Given the description of an element on the screen output the (x, y) to click on. 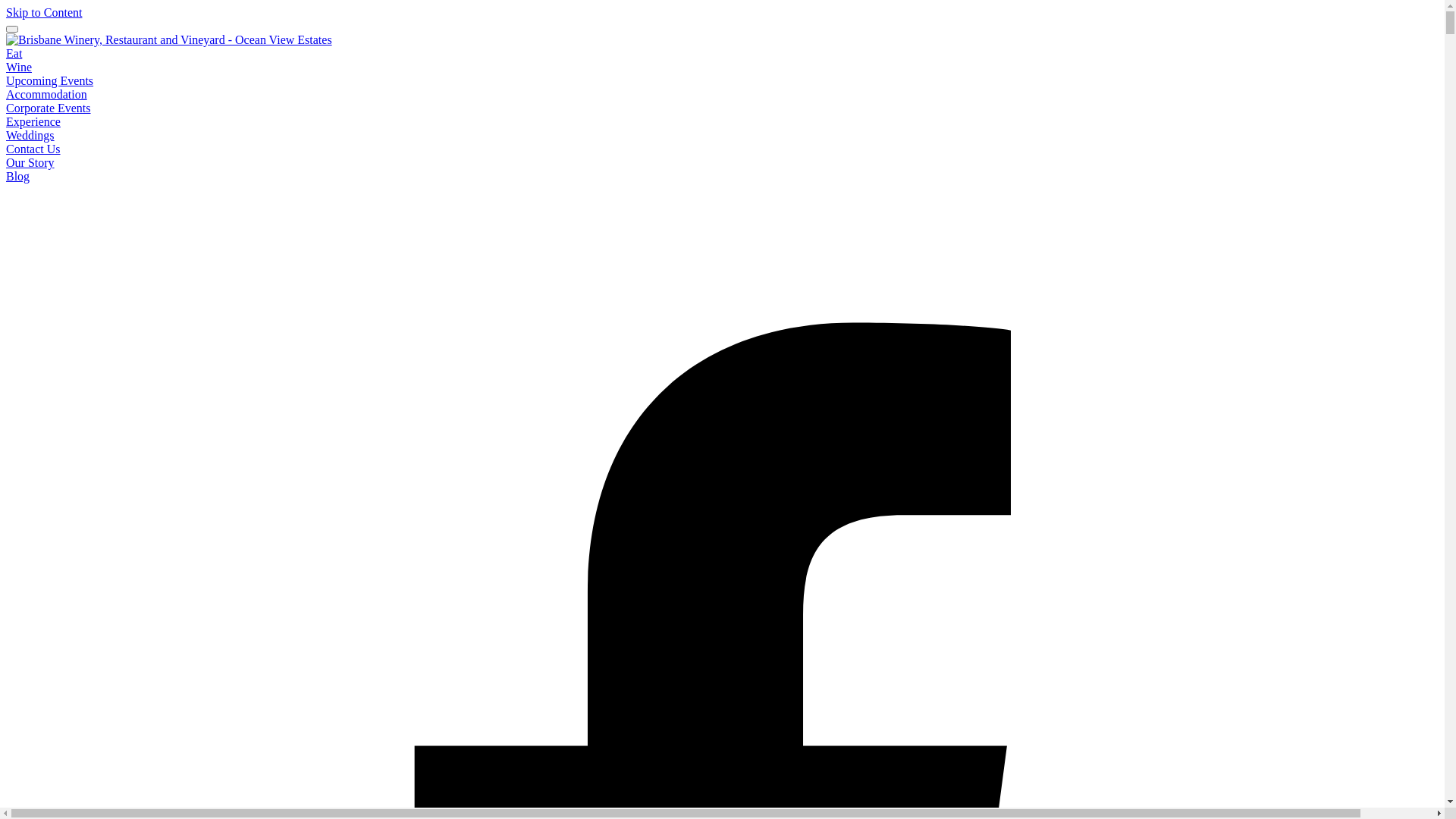
Wine Element type: text (18, 66)
Skip to Content Element type: text (43, 12)
Upcoming Events Element type: text (49, 80)
Corporate Events Element type: text (48, 107)
Accommodation Element type: text (46, 93)
Blog Element type: text (17, 175)
Eat Element type: text (13, 53)
Our Story Element type: text (30, 162)
Weddings Element type: text (30, 134)
Experience Element type: text (33, 121)
Contact Us Element type: text (33, 148)
